Given the description of an element on the screen output the (x, y) to click on. 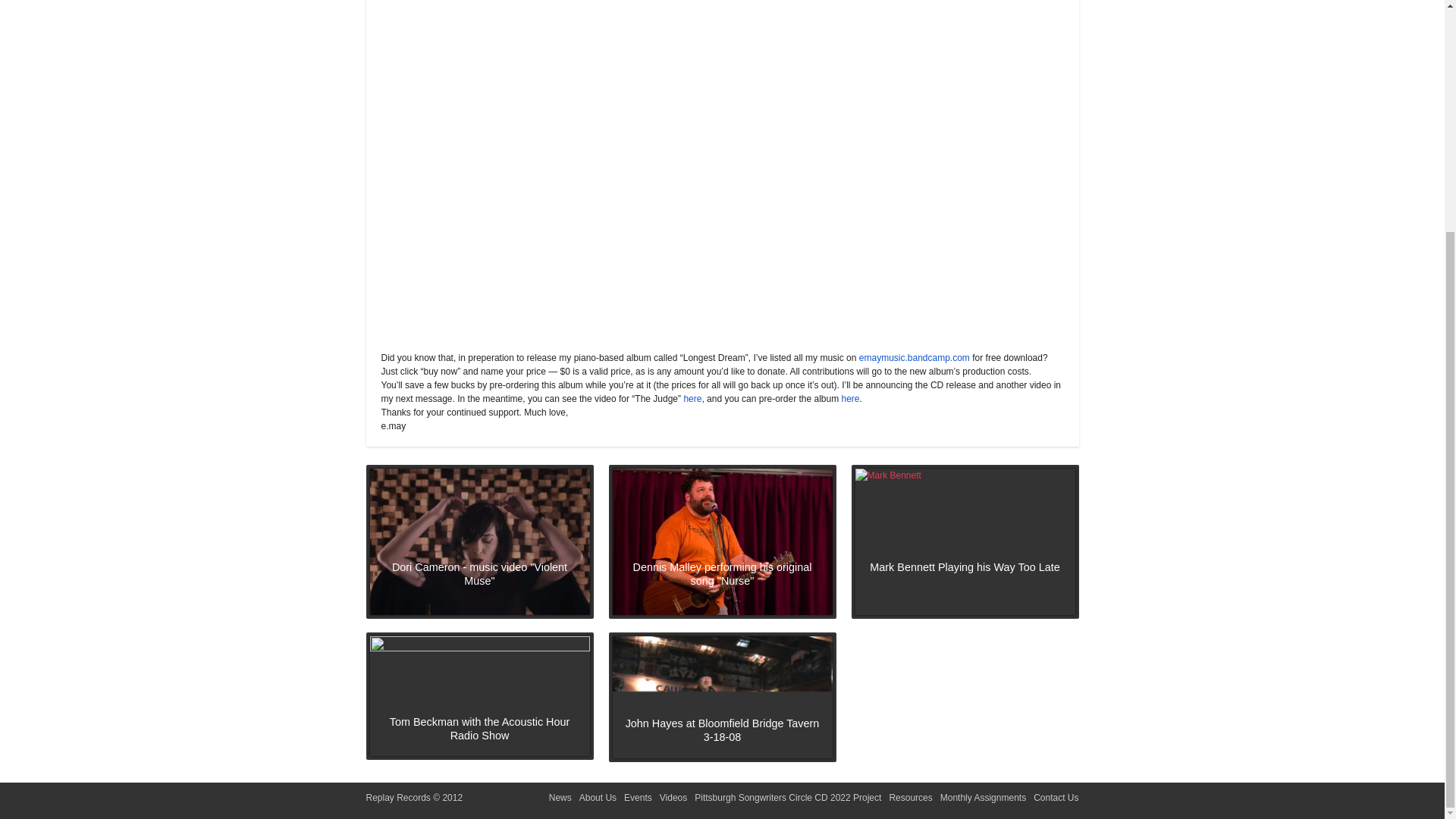
Events (638, 797)
Pittsburgh Songwriters Circle CD 2022 Project (787, 797)
Dennis Malley performing his original song "Nurse" (722, 541)
here (691, 398)
Dori Cameron - music video "Violent Muse" (479, 541)
News (560, 797)
Mark Bennett Playing his Way Too Late (965, 541)
here (850, 398)
Monthly Assignments (983, 797)
Contact Us (1055, 797)
